Given the description of an element on the screen output the (x, y) to click on. 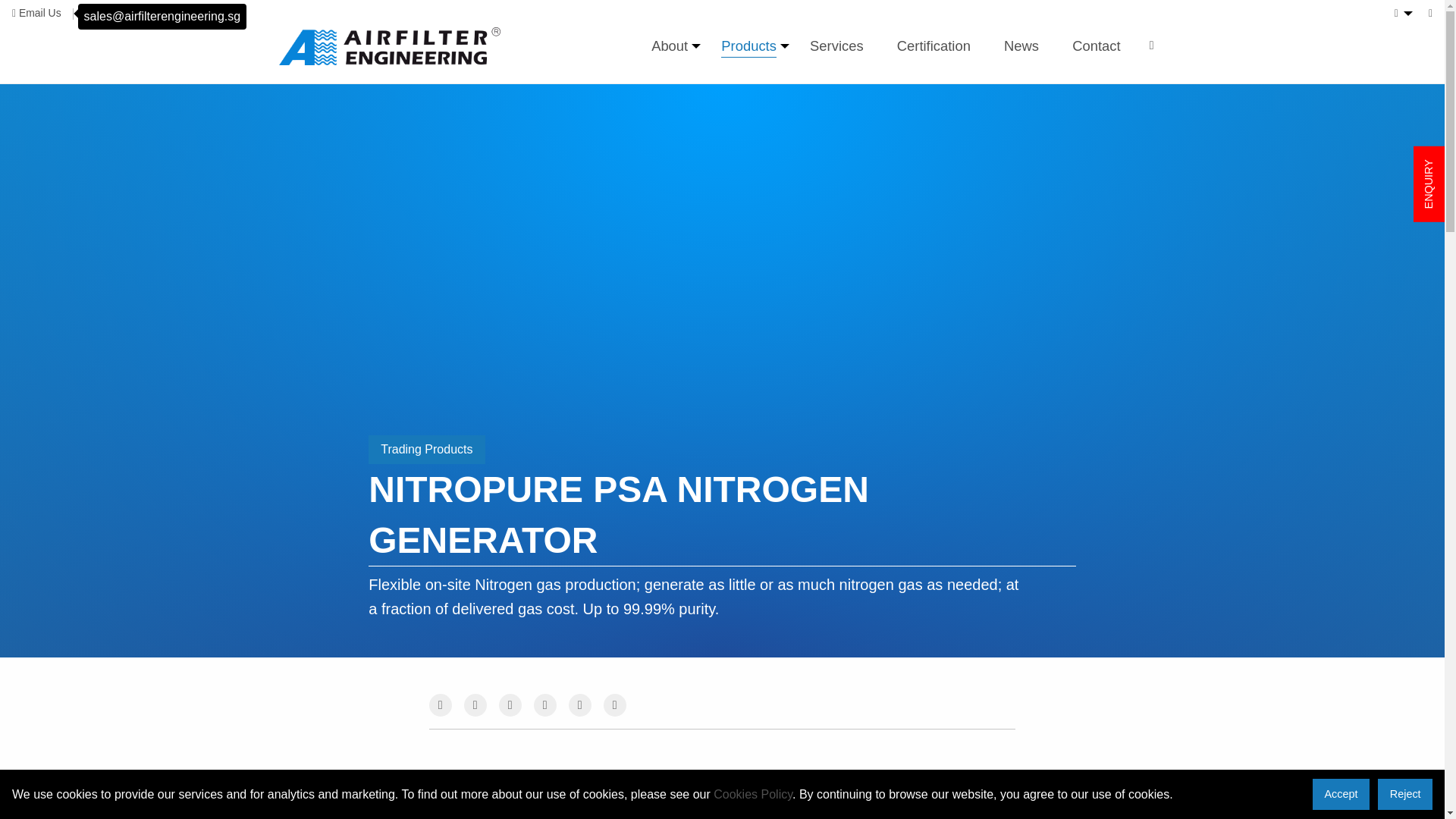
Email Us (37, 13)
